Given the description of an element on the screen output the (x, y) to click on. 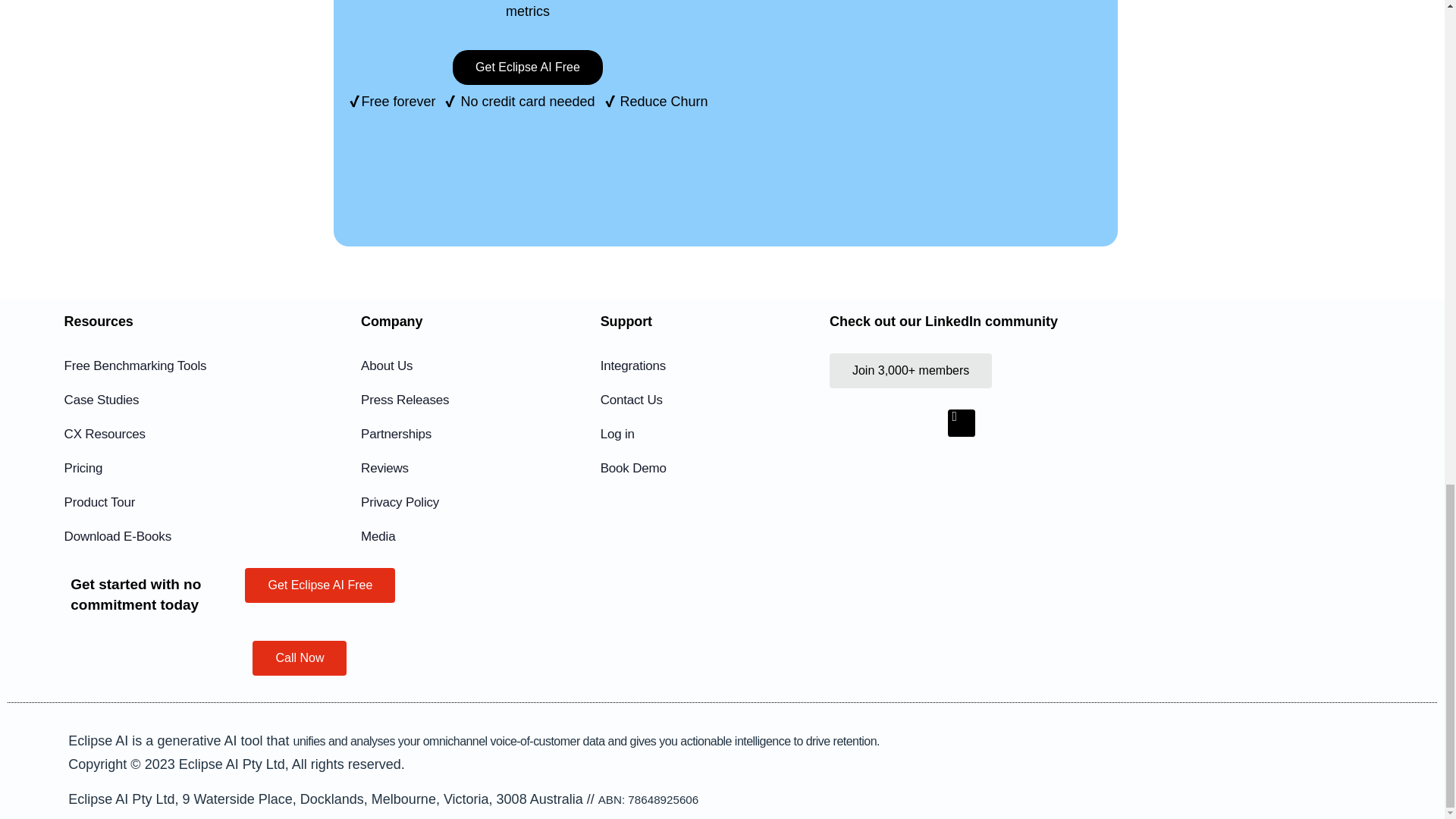
About Us (476, 365)
CX Resources (191, 434)
Download E-Books (191, 536)
Product Tour (191, 502)
Press Releases (476, 400)
Get Eclipse AI Free (527, 67)
Pricing (191, 468)
Case Studies (191, 400)
Free Benchmarking Tools (191, 365)
